Given the description of an element on the screen output the (x, y) to click on. 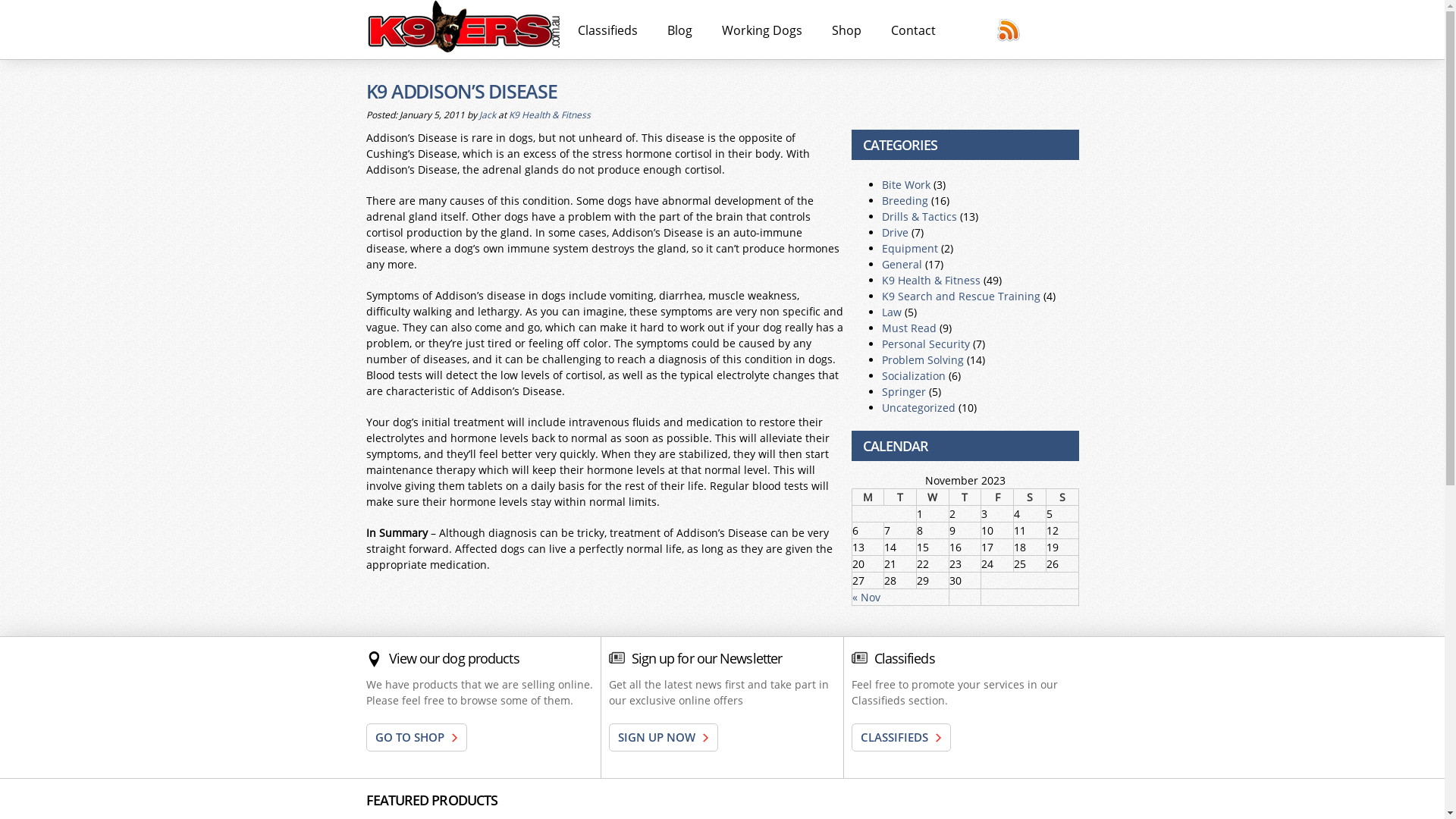
K9 Search and Rescue Training Element type: text (960, 295)
Working Dogs Element type: text (761, 29)
Drive Element type: text (894, 231)
Skip to main content Element type: text (693, 1)
Law Element type: text (890, 311)
General Element type: text (901, 263)
Jack Element type: text (487, 113)
Equipment Element type: text (909, 248)
K9 Health & Fitness Element type: text (548, 113)
Bite Work Element type: text (905, 184)
Socialization Element type: text (912, 375)
Breeding Element type: text (904, 199)
GO TO SHOP Element type: text (415, 737)
Contact Element type: text (912, 29)
CLASSIFIEDS Element type: text (900, 737)
Must Read Element type: text (908, 327)
Personal Security Element type: text (925, 343)
Home Element type: text (463, 29)
Drills & Tactics Element type: text (918, 216)
SIGN UP NOW Element type: text (662, 737)
Shop Element type: text (845, 29)
Springer Element type: text (903, 390)
Blog Element type: text (679, 29)
Classifieds Element type: text (607, 29)
Uncategorized Element type: text (917, 407)
K9 Health & Fitness Element type: text (930, 280)
Problem Solving Element type: text (922, 358)
